Given the description of an element on the screen output the (x, y) to click on. 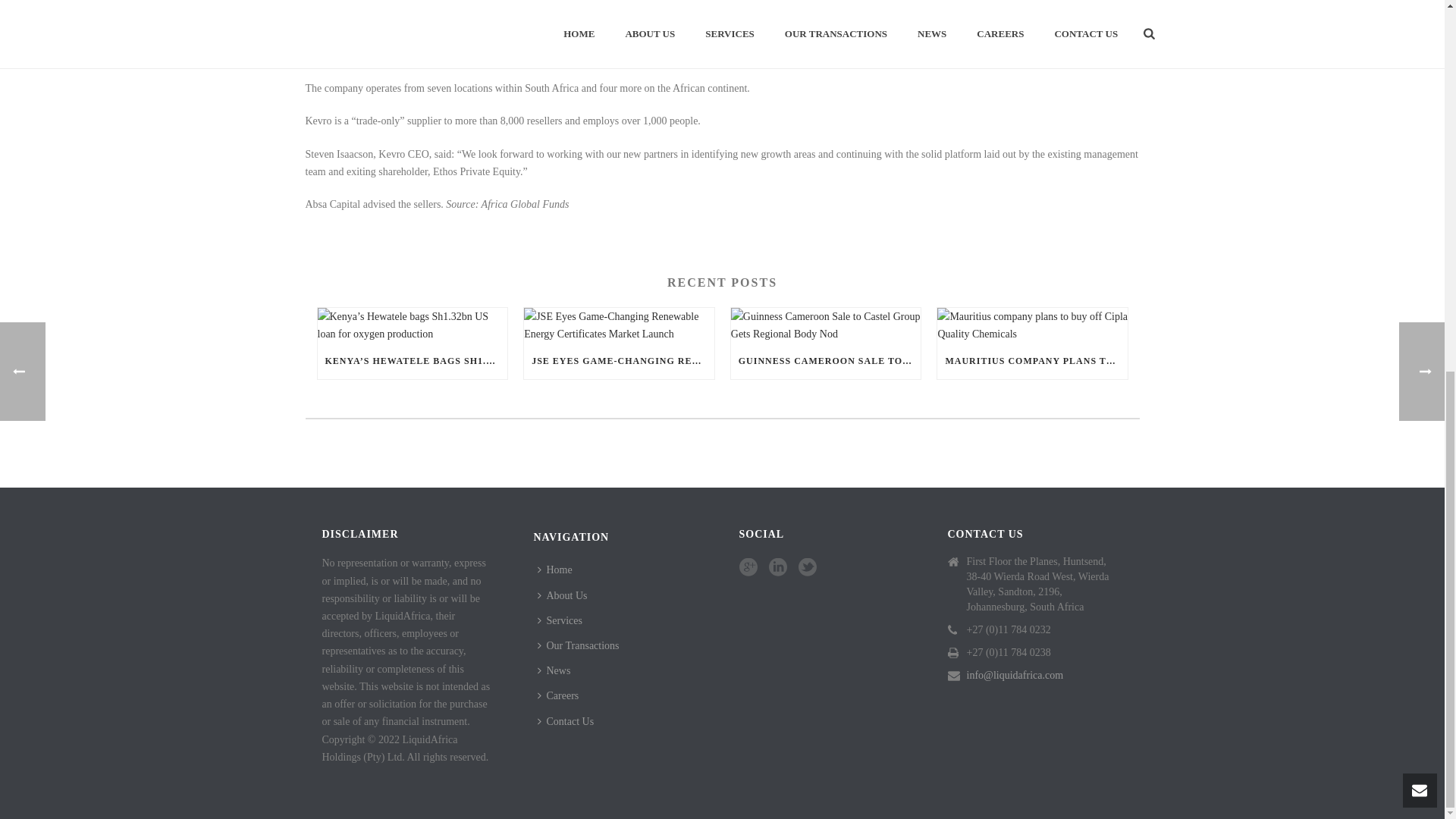
Mauritius company plans to buy off Cipla Quality Chemicals (1031, 325)
Follow Us on linkedin (777, 567)
Home (558, 569)
About Us (566, 595)
Follow Us on twitter (806, 567)
MAURITIUS COMPANY PLANS TO BUY OFF CIPLA QUALITY CHEMICALS (1031, 361)
